Given the description of an element on the screen output the (x, y) to click on. 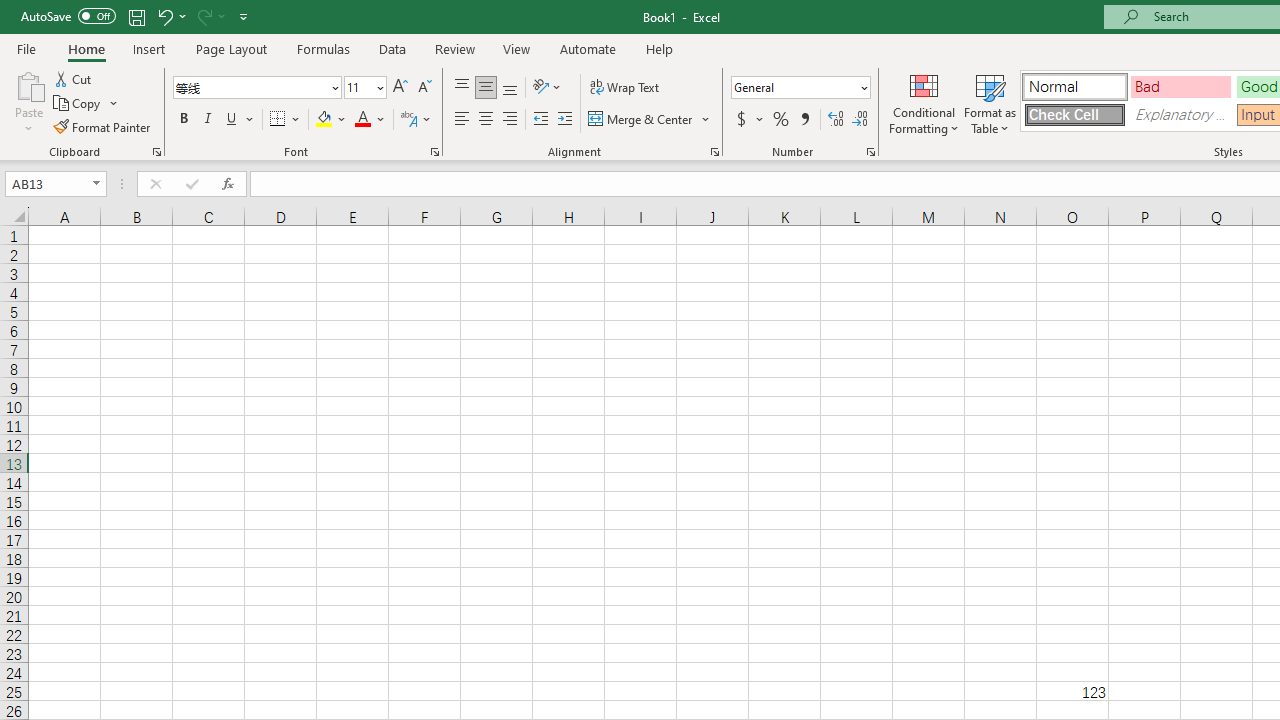
Copy (85, 103)
Italic (207, 119)
